Given the description of an element on the screen output the (x, y) to click on. 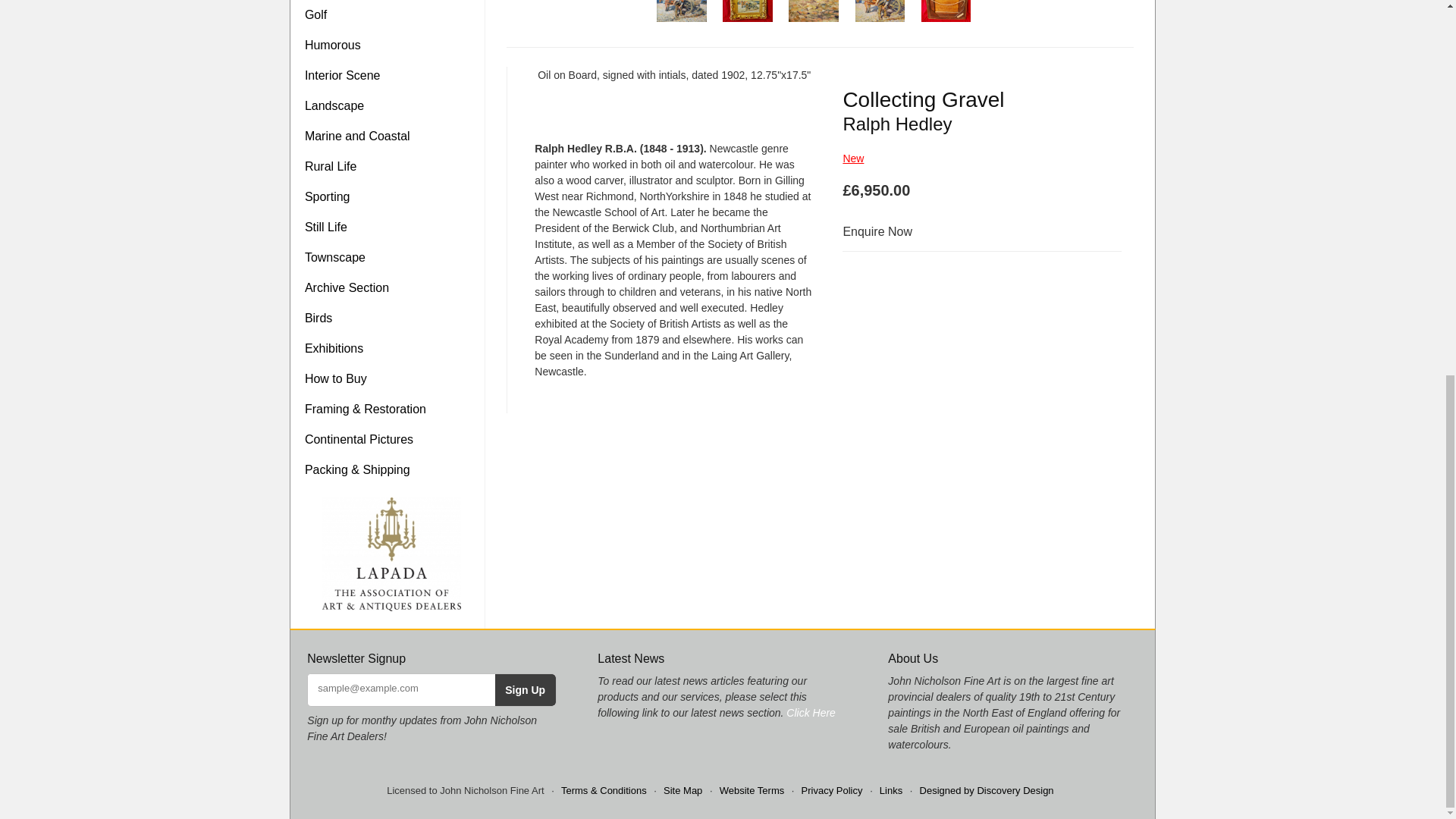
Landscape (391, 105)
Golf (391, 15)
Still Life (391, 227)
Townscape (391, 257)
Web Links (890, 790)
Marine and Coastal (391, 136)
Exhibitions (391, 348)
Archive Section (391, 287)
Rural Life (391, 166)
How to Buy (391, 378)
Birds (391, 318)
Interior Scene (391, 75)
Sporting (391, 196)
Humorous (391, 45)
